Given the description of an element on the screen output the (x, y) to click on. 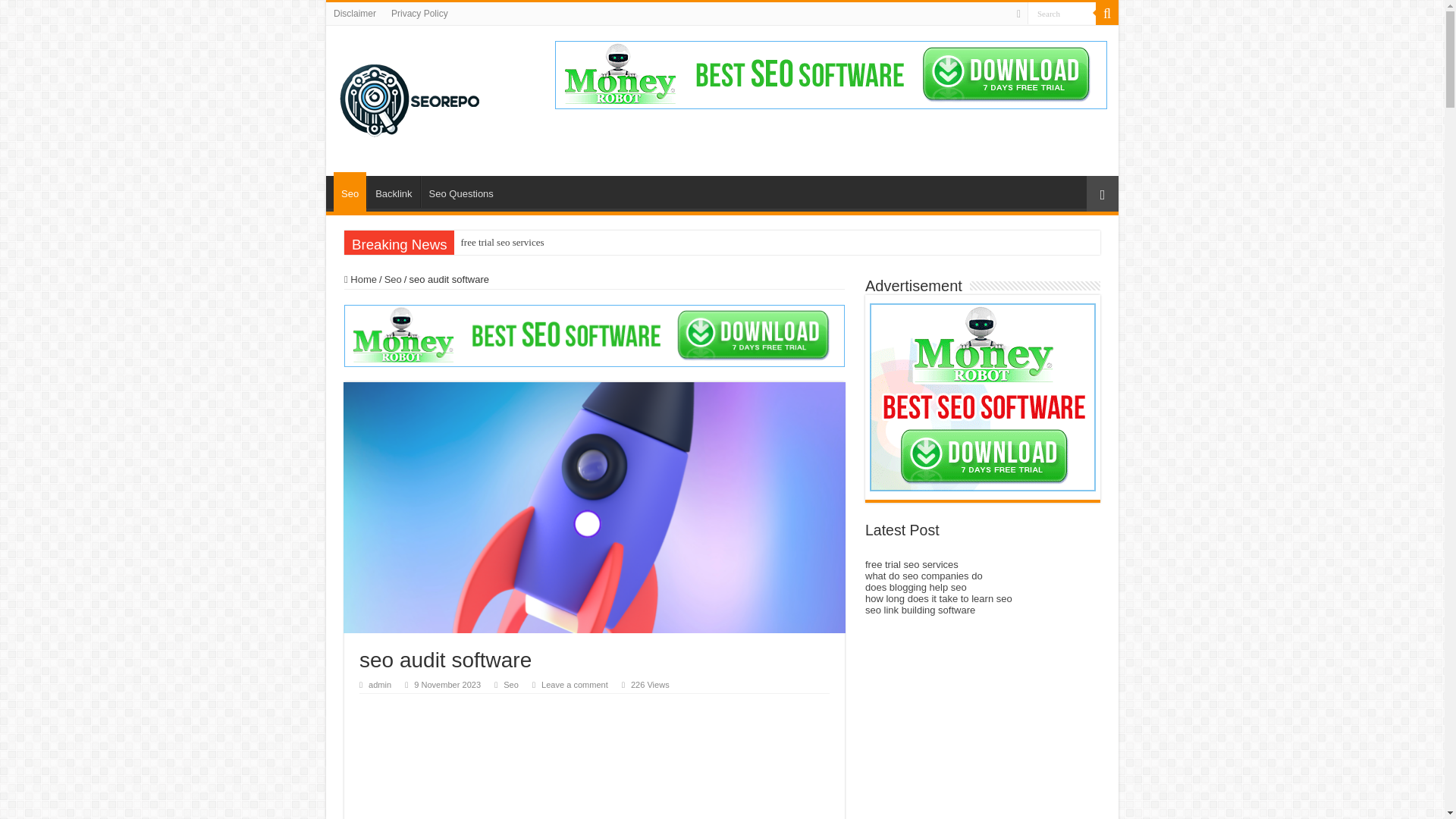
Seo (510, 684)
Privacy Policy (419, 13)
Seo Questions (460, 192)
Backlink (392, 192)
free trial seo services (502, 242)
Seo (392, 279)
seo repo (409, 97)
Search (1061, 13)
Search (1107, 13)
free trial seo services (502, 242)
